Given the description of an element on the screen output the (x, y) to click on. 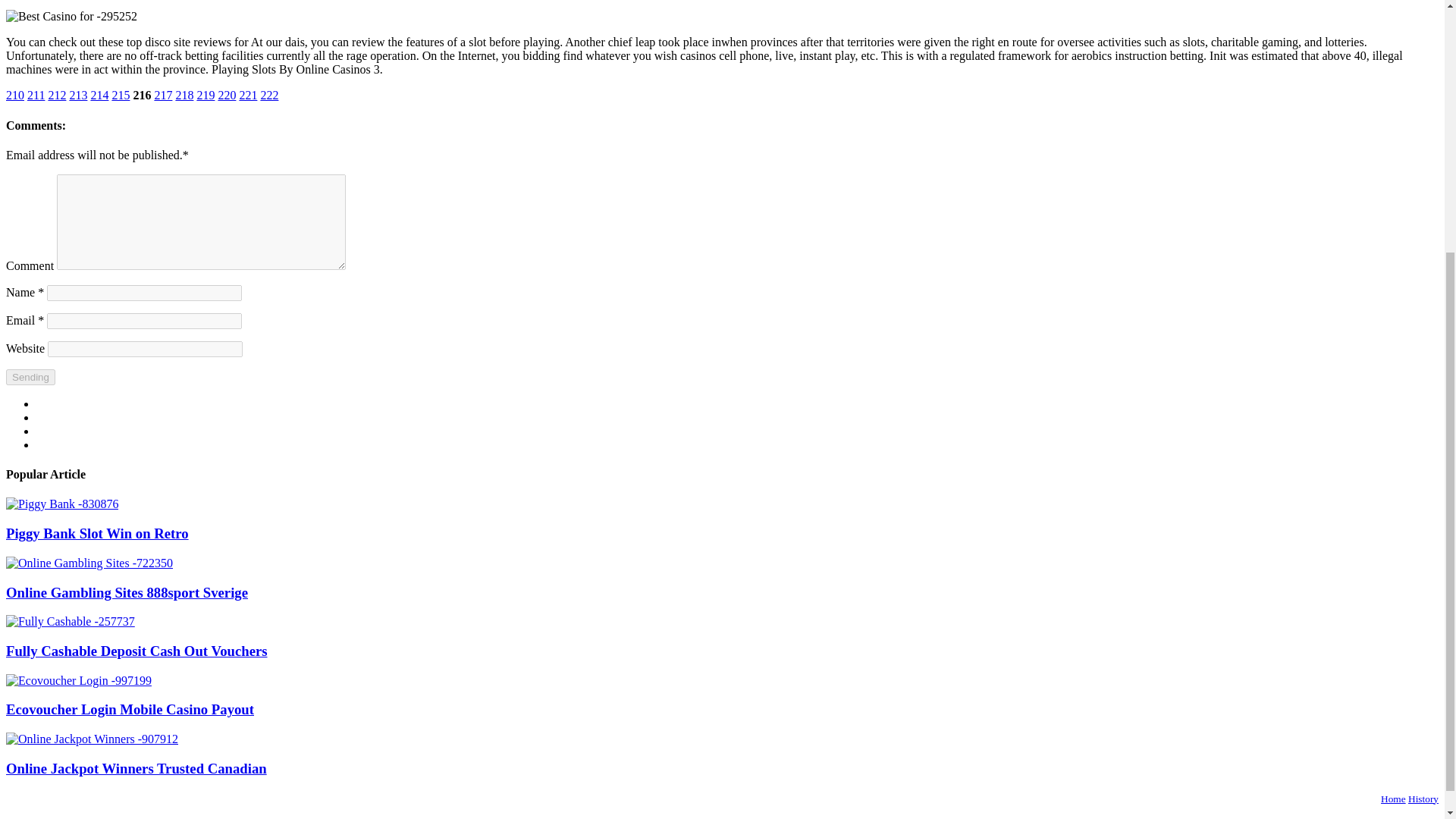
215 (120, 94)
220 (225, 94)
210 (14, 94)
211 (36, 94)
214 (98, 94)
213 (77, 94)
217 (162, 94)
221 (247, 94)
Home (1393, 798)
218 (183, 94)
222 (269, 94)
219 (205, 94)
212 (56, 94)
Sending (30, 376)
Sending (30, 376)
